Given the description of an element on the screen output the (x, y) to click on. 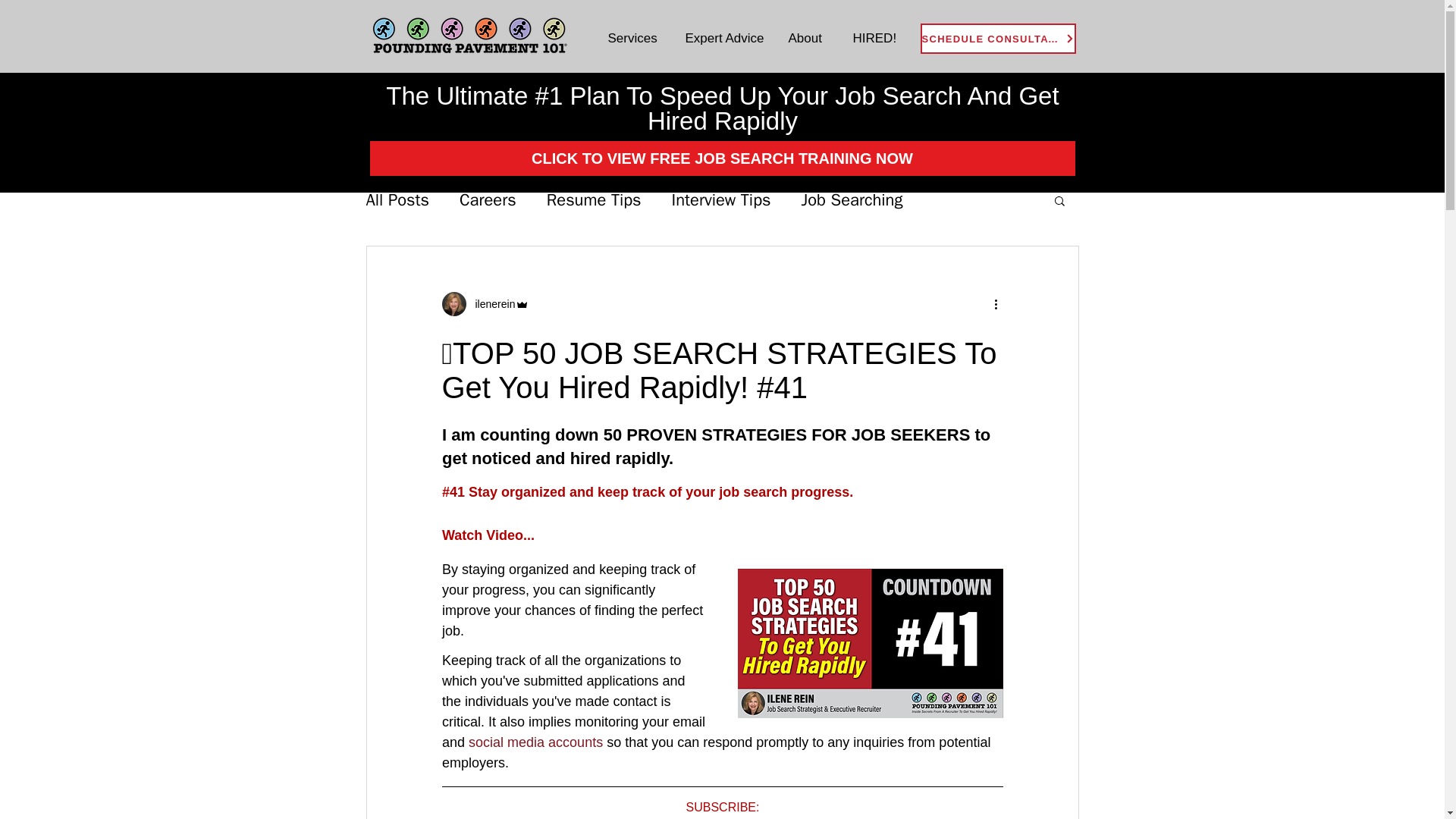
ilenerein (490, 303)
Watch Video... (487, 534)
Job Searching (851, 200)
Resume Tips (594, 200)
Interview Tips (721, 200)
CLICK TO VIEW FREE JOB SEARCH TRAINING NOW (722, 158)
social media accounts (535, 742)
SCHEDULE CONSULTATION (997, 38)
Careers (488, 200)
All Posts (397, 200)
HIRED! (876, 38)
